Given the description of an element on the screen output the (x, y) to click on. 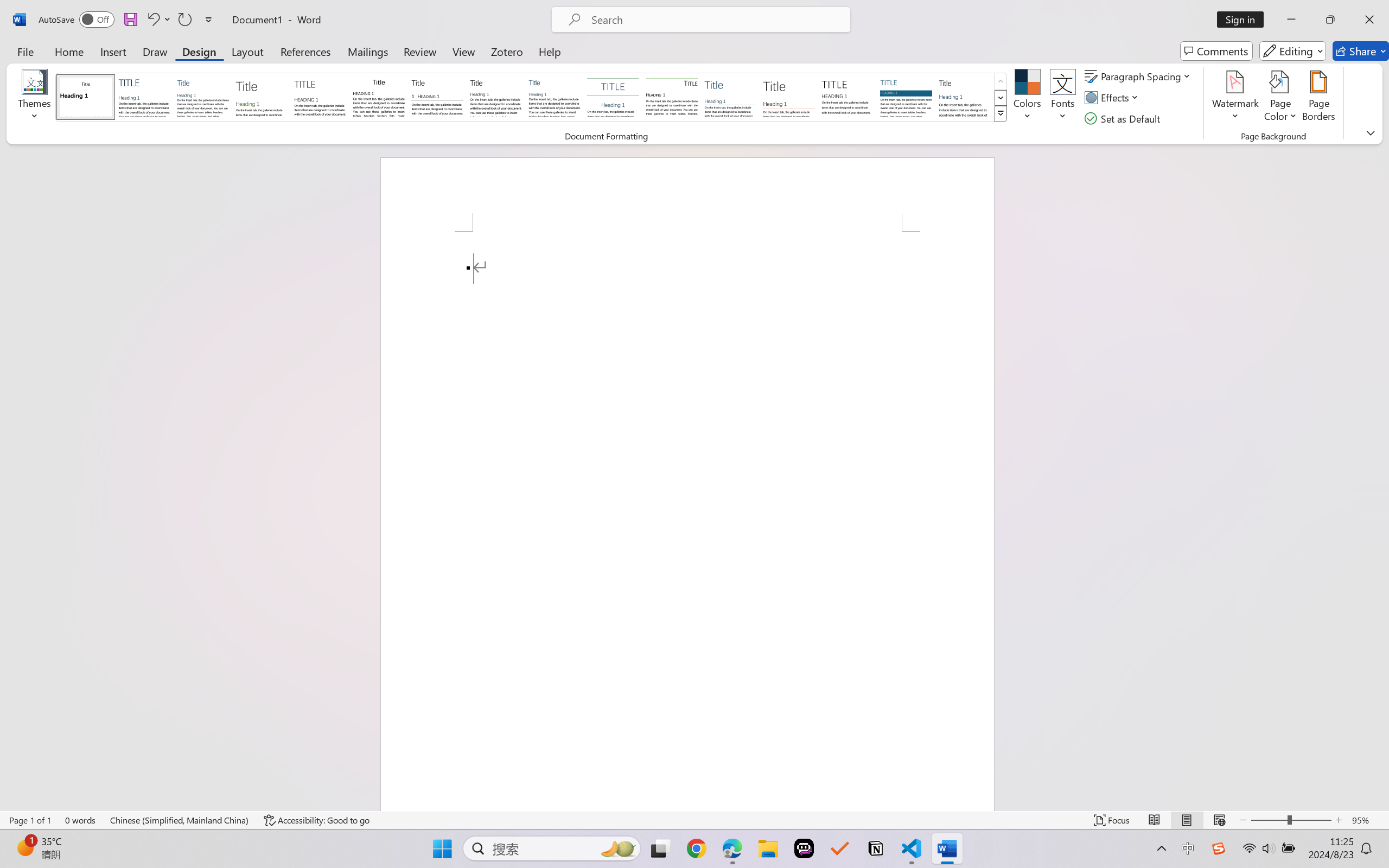
Set as Default (1124, 118)
Black & White (Classic) (379, 96)
Centered (612, 96)
Repeat Style (184, 19)
